Given the description of an element on the screen output the (x, y) to click on. 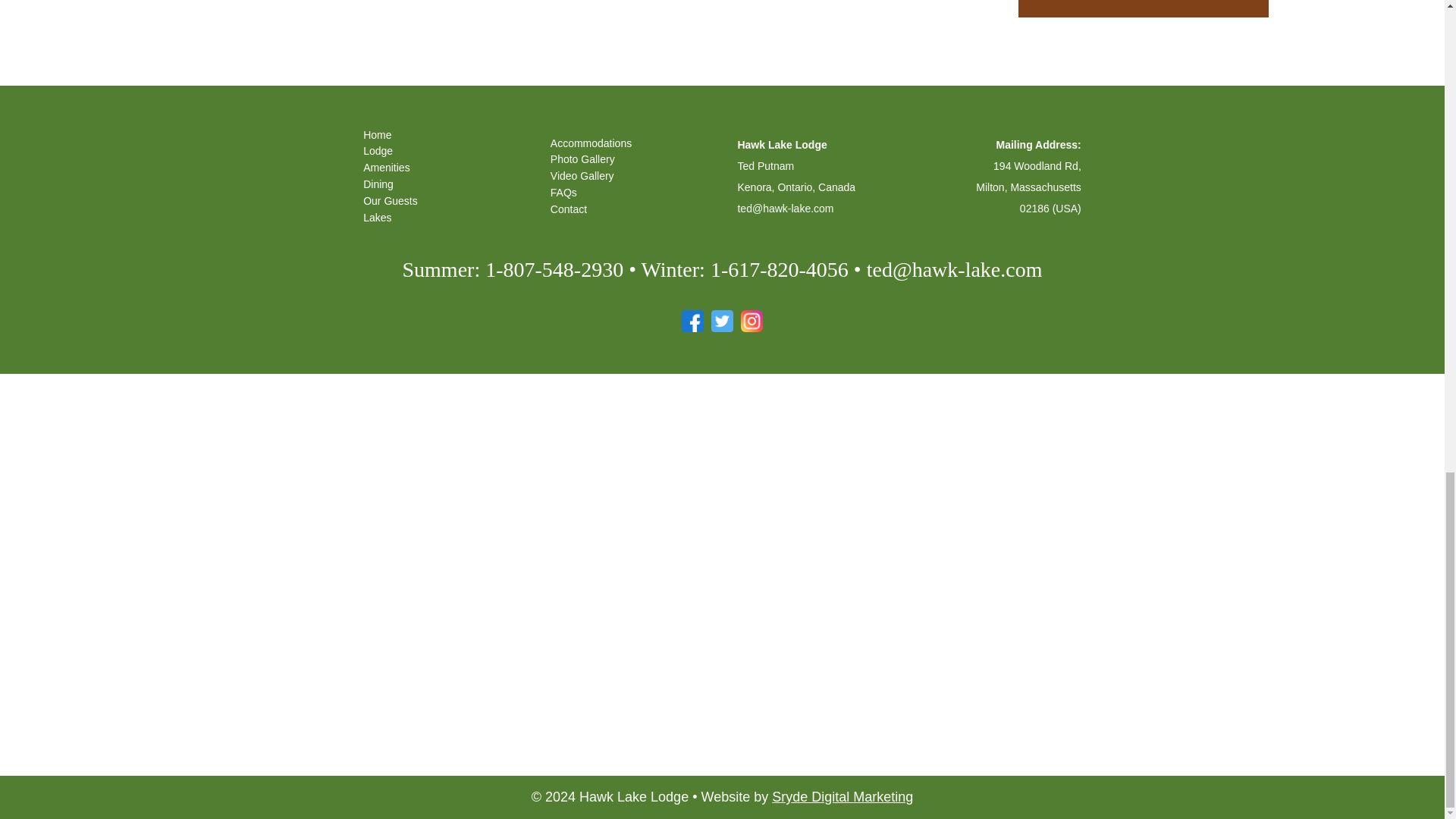
Sryde Digital Marketing (841, 796)
